Given the description of an element on the screen output the (x, y) to click on. 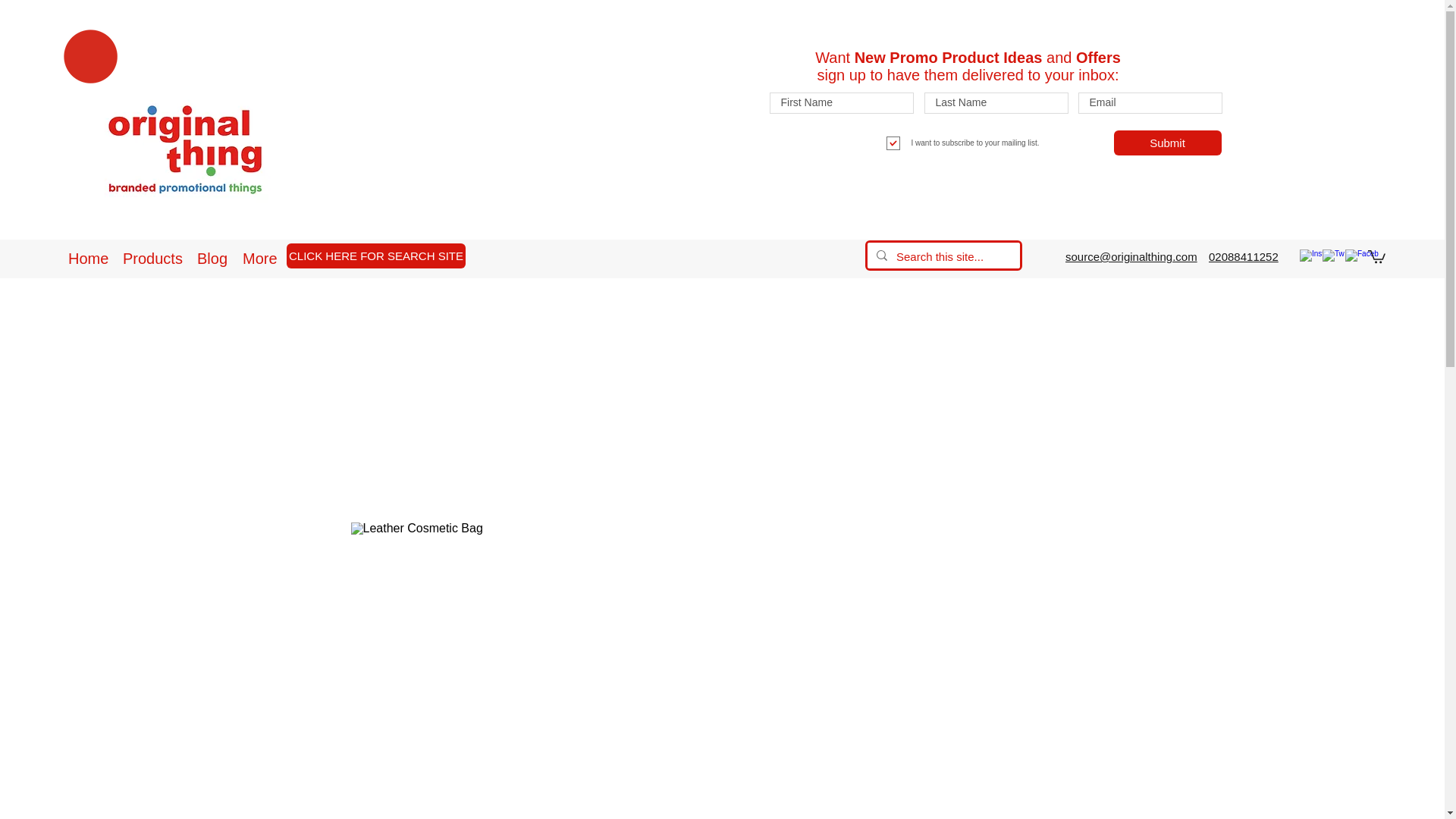
Products (152, 258)
OT Logo 2024 (185, 151)
Home (88, 258)
Blog (211, 258)
Submit (1167, 142)
CLICK HERE FOR SEARCH SITE (375, 255)
02088411252 (1243, 256)
